Given the description of an element on the screen output the (x, y) to click on. 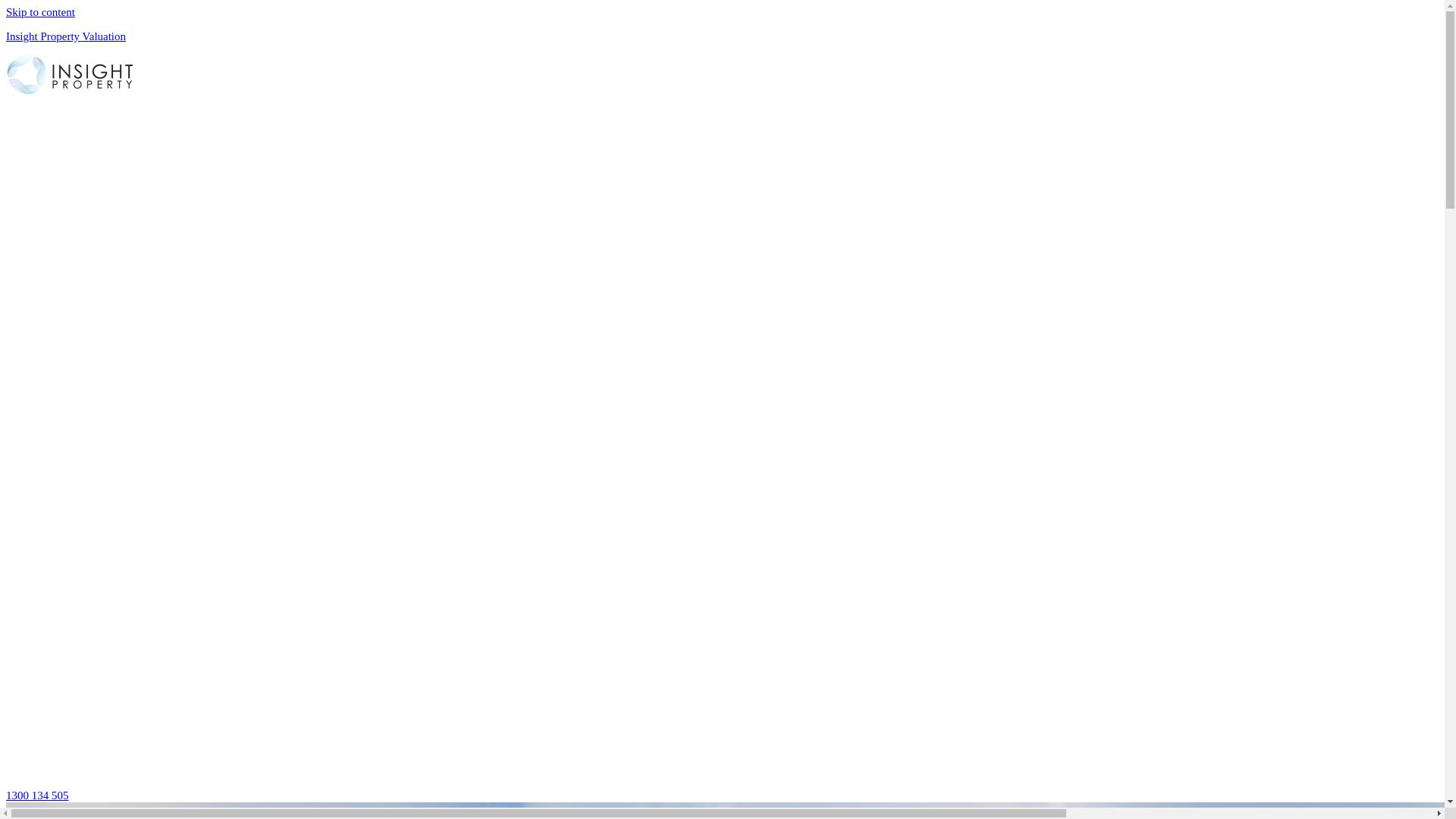
1300 134 505 Element type: text (37, 795)
Insight Property Valuation Element type: text (65, 36)
Skip to content Element type: text (40, 12)
